Given the description of an element on the screen output the (x, y) to click on. 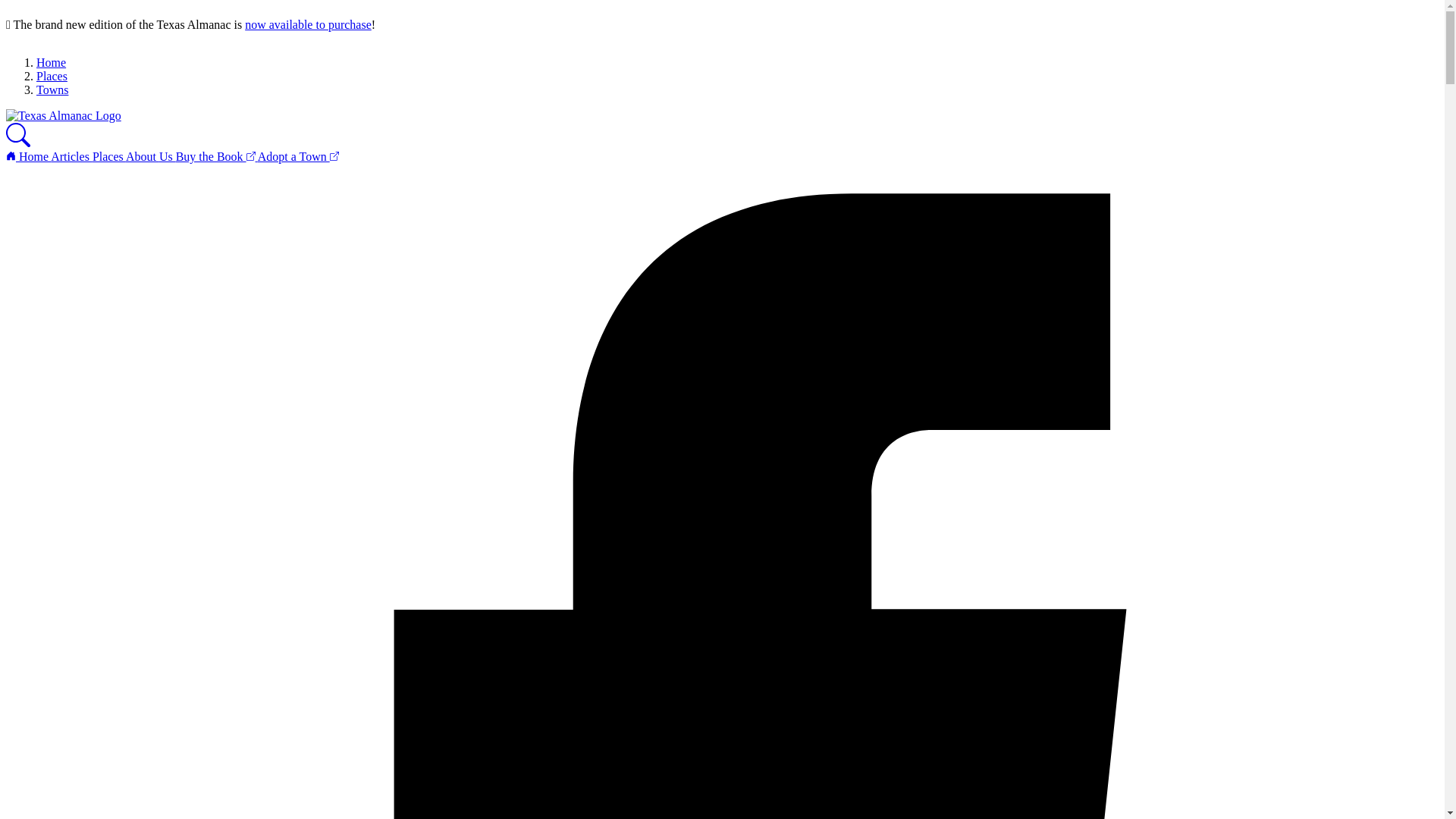
Articles (71, 155)
Adopt a Town (298, 155)
Places (51, 75)
About Us (150, 155)
Places (109, 155)
Home (50, 62)
Buy the Book (216, 155)
now available to purchase (307, 24)
Home (27, 155)
Towns (52, 89)
